Given the description of an element on the screen output the (x, y) to click on. 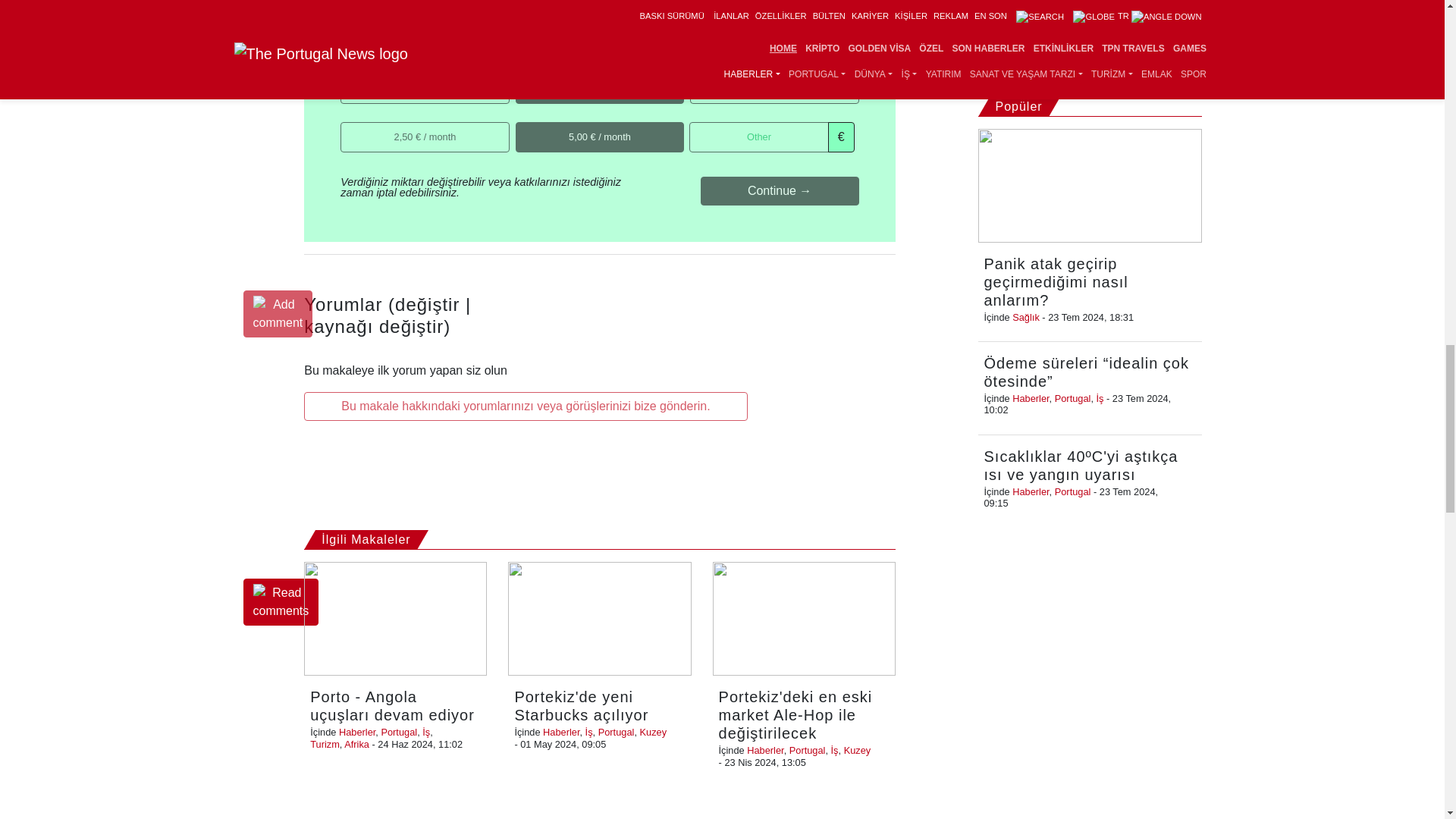
P-6T2758016F920900CMGGQYMQ (520, 78)
single (345, 78)
P-18662245734186221MGVD6SI (695, 78)
5 (520, 126)
2.5 (345, 126)
